Given the description of an element on the screen output the (x, y) to click on. 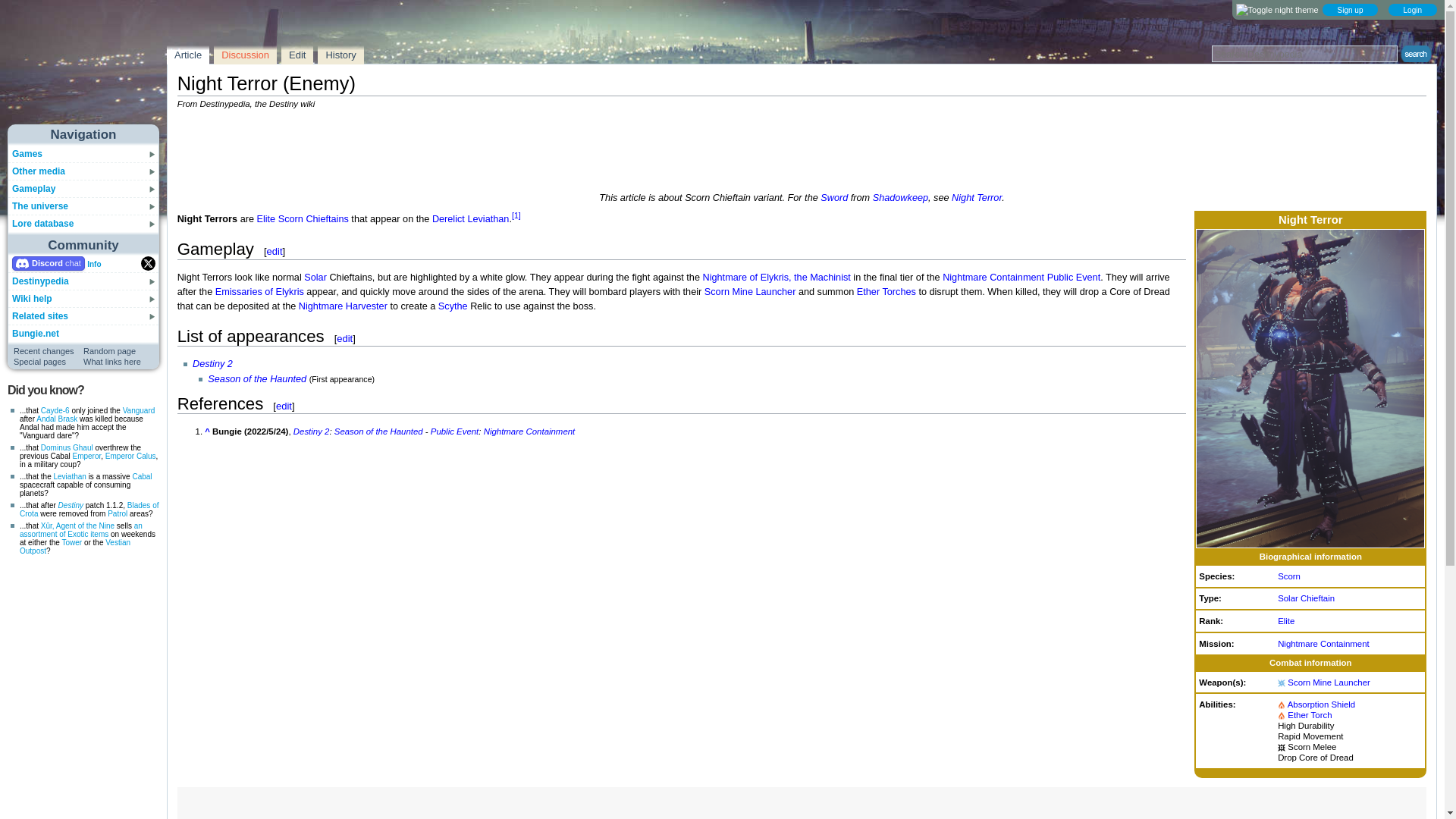
Emperor Calus (129, 456)
Cabal (141, 476)
Sign up (1350, 9)
Games (26, 153)
Toggle night theme (1277, 10)
Blade of Crota (89, 509)
Destiny (70, 505)
Search Destinypedia (1304, 53)
Andal Brask (56, 418)
Dominus Ghaul (66, 447)
